Given the description of an element on the screen output the (x, y) to click on. 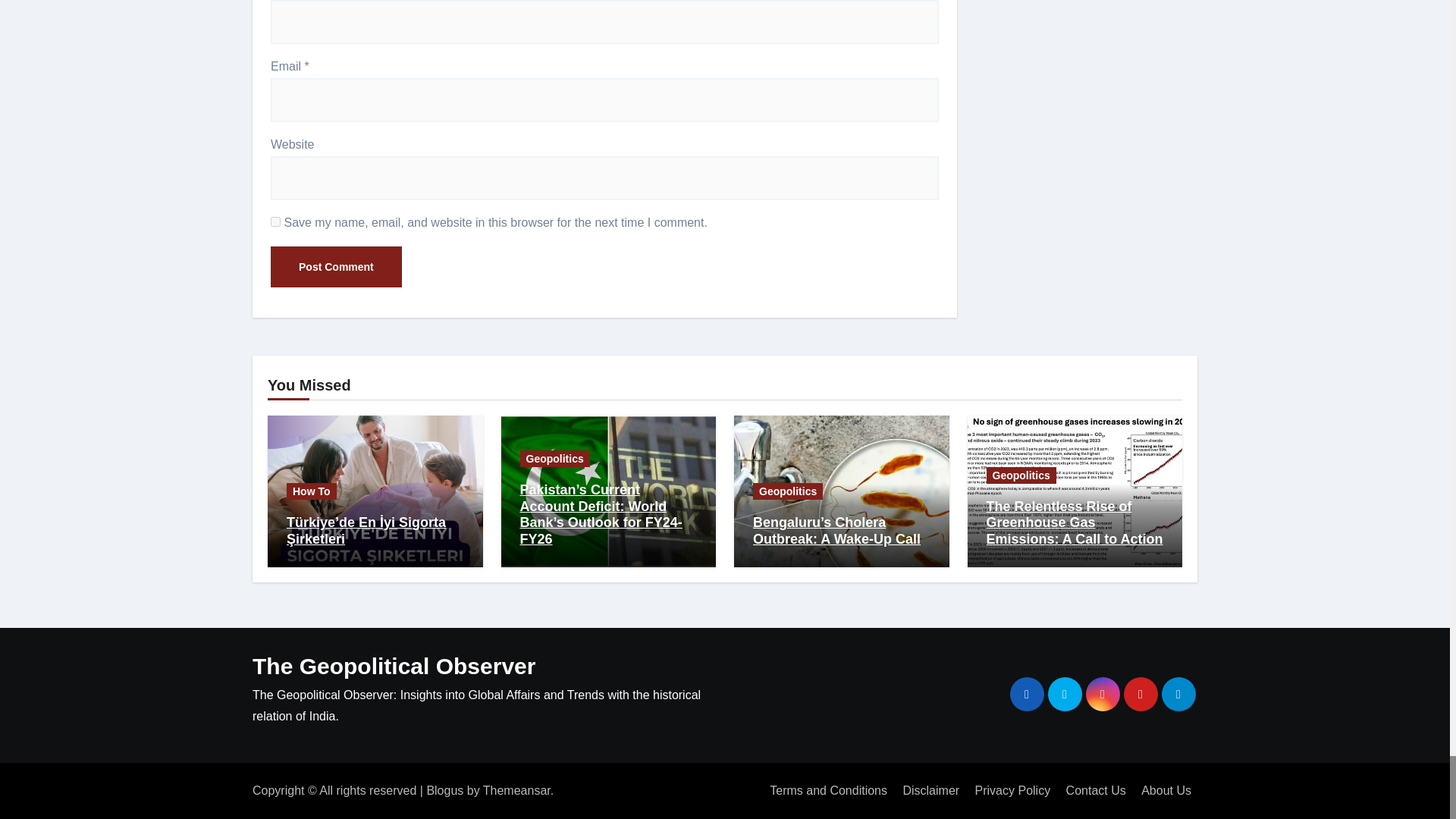
yes (275, 221)
Post Comment (335, 266)
Terms and Conditions (827, 789)
